Given the description of an element on the screen output the (x, y) to click on. 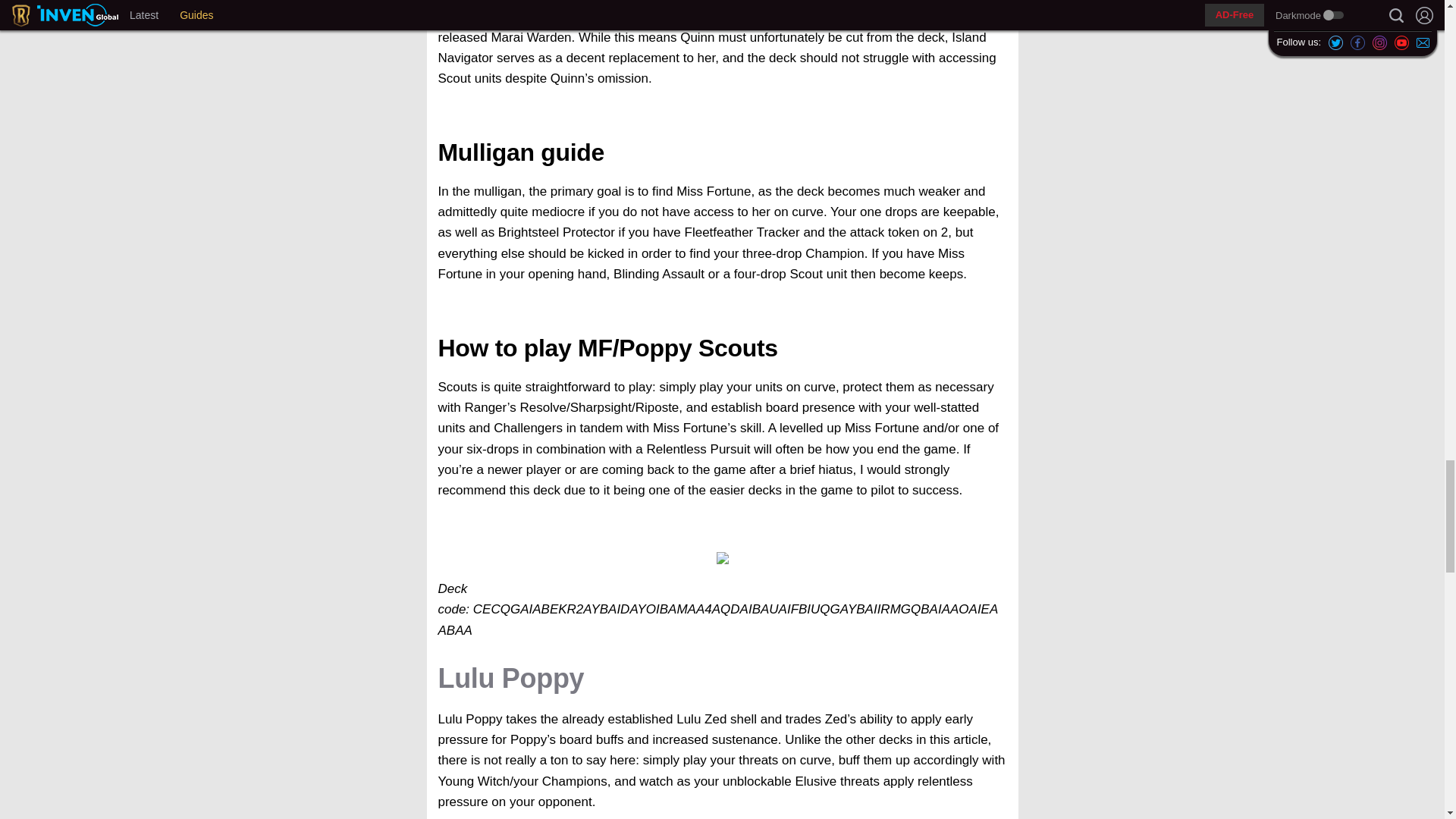
Lulu Poppy (511, 677)
